Given the description of an element on the screen output the (x, y) to click on. 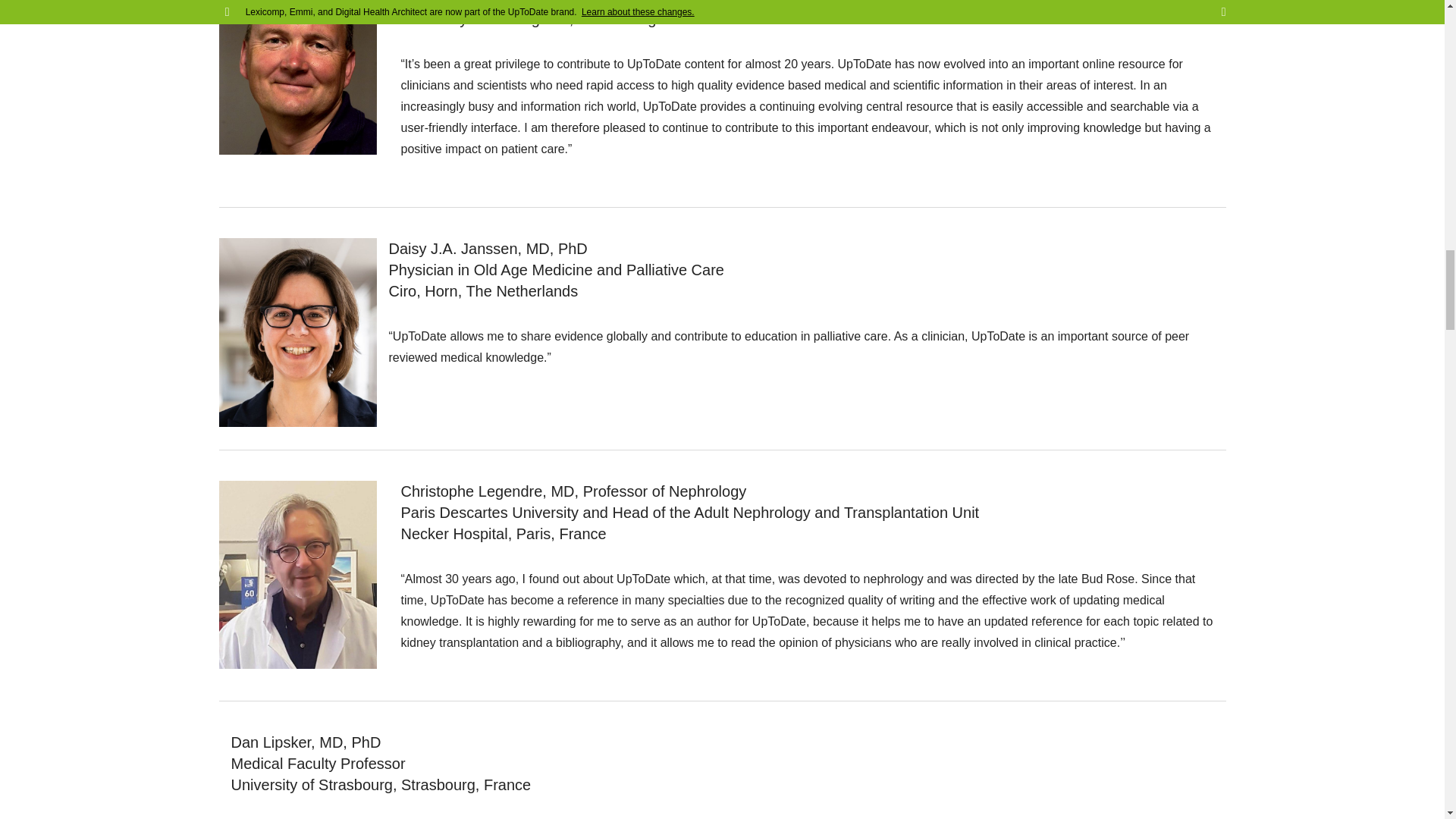
image-author-harrison (296, 77)
